Given the description of an element on the screen output the (x, y) to click on. 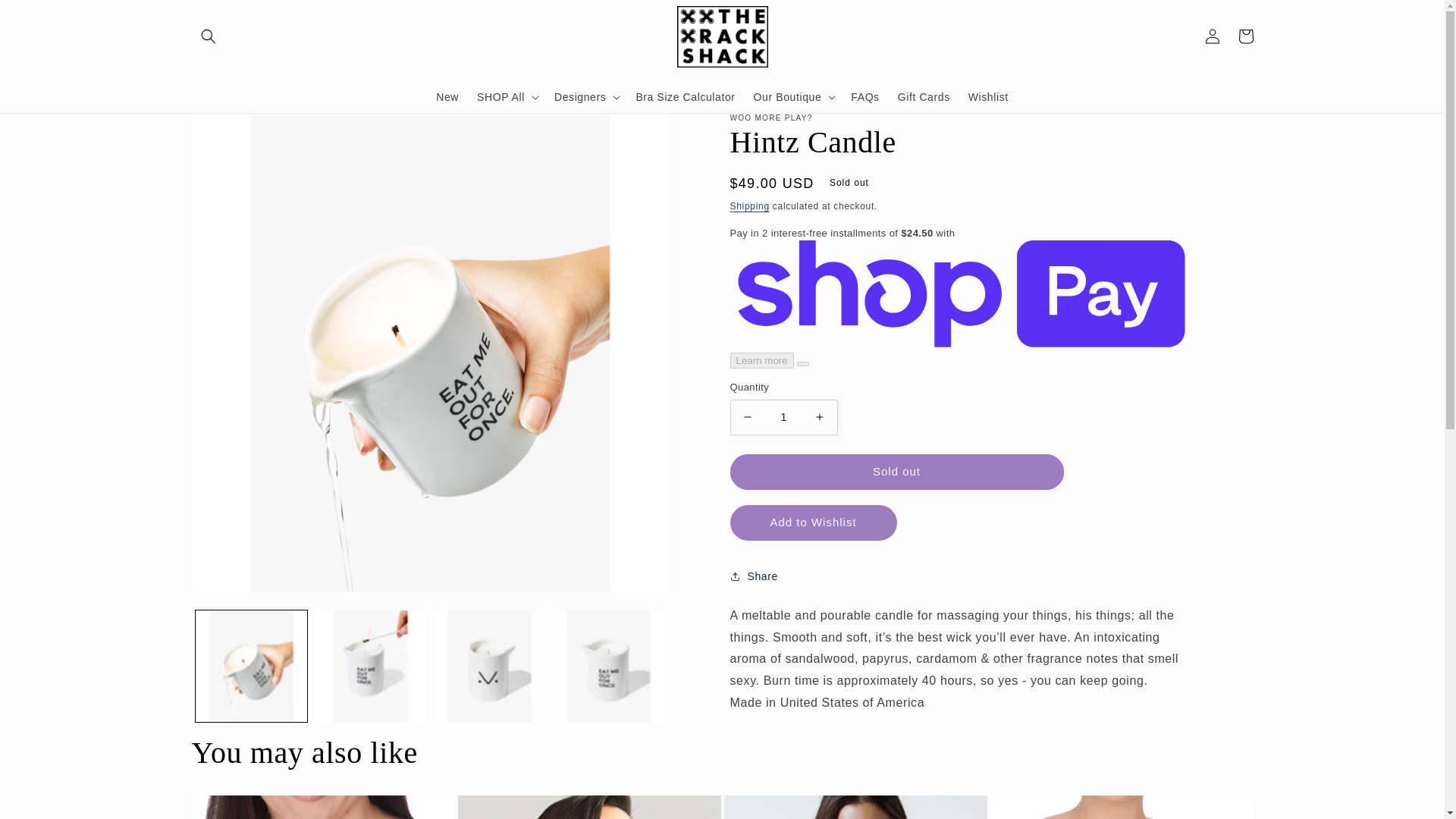
1 (783, 416)
Skip to content (45, 17)
Add to Wishlist (812, 522)
